Given the description of an element on the screen output the (x, y) to click on. 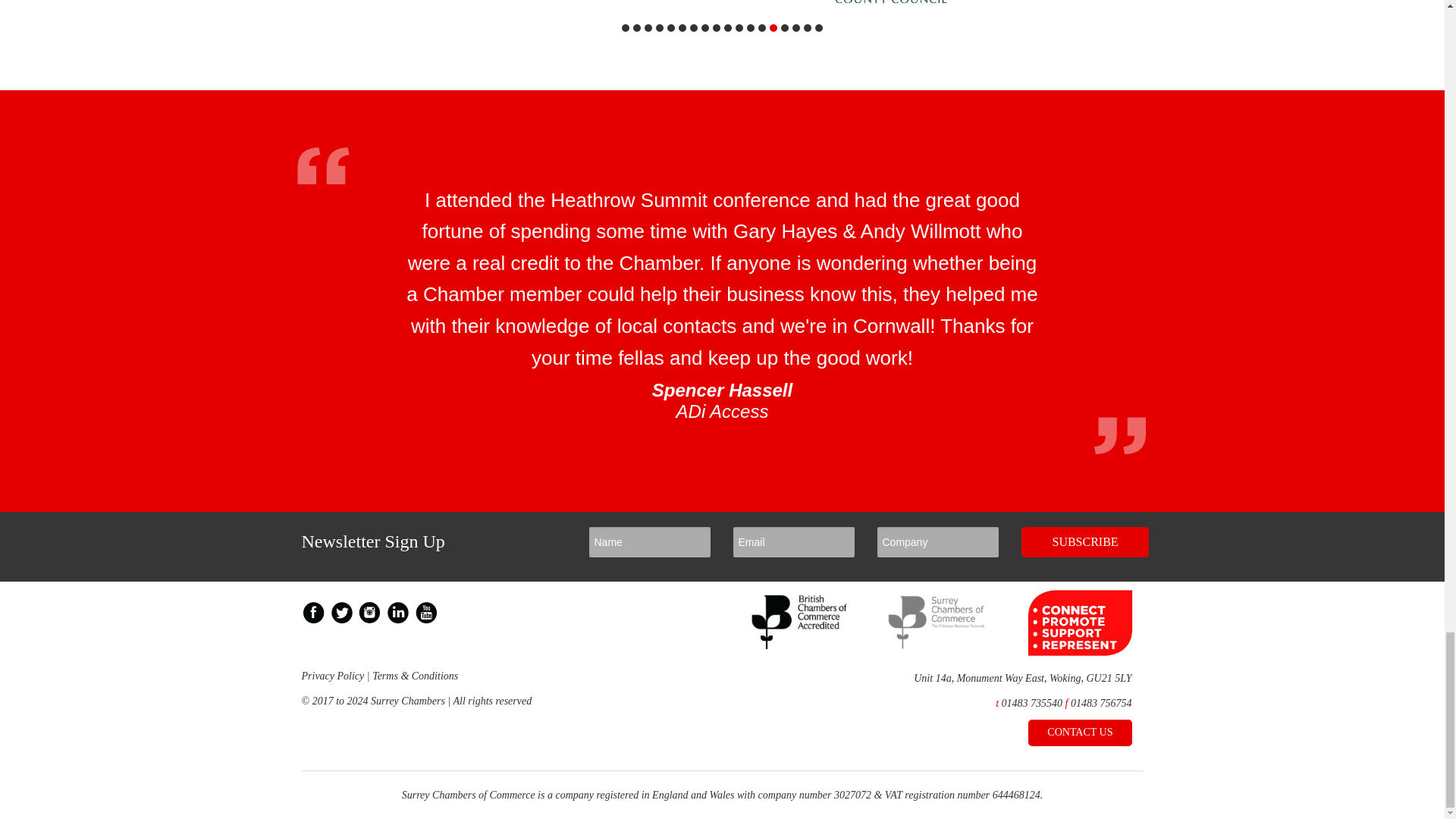
SUBSCRIBE (1085, 542)
Surrey Chambers (937, 645)
BCC Accredited (801, 645)
